Given the description of an element on the screen output the (x, y) to click on. 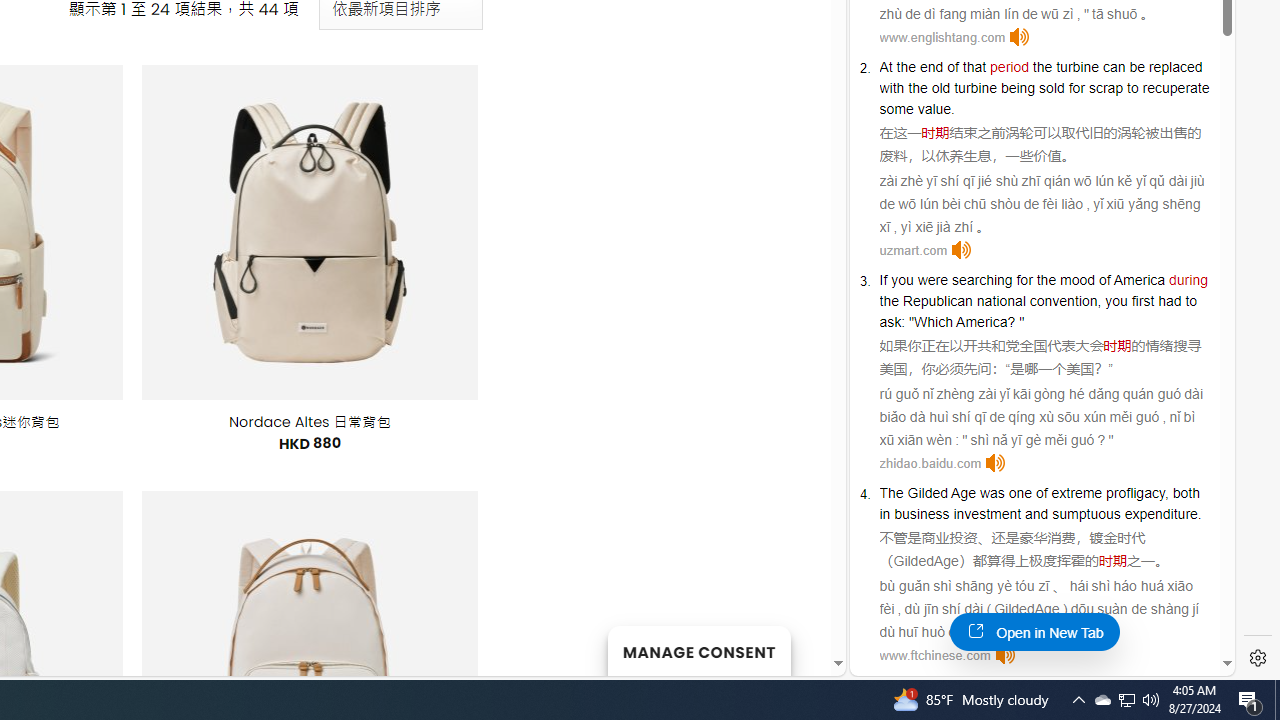
" (1021, 321)
America (982, 321)
profligacy (1134, 493)
that (974, 66)
Age (963, 493)
, (1165, 493)
both (1186, 493)
one (1020, 493)
end (931, 66)
